Given the description of an element on the screen output the (x, y) to click on. 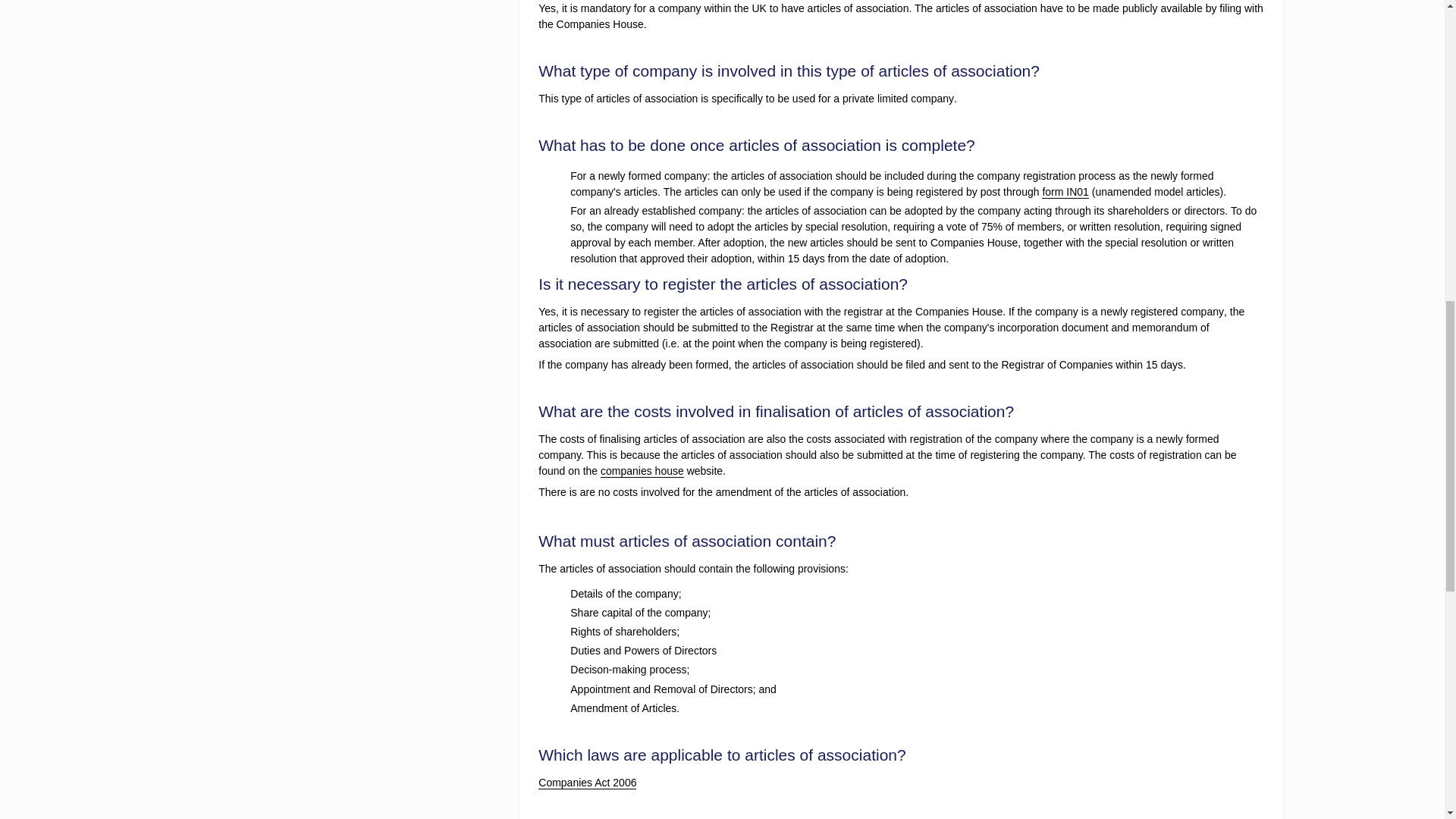
companies house (641, 471)
form IN01 (1064, 192)
Companies Act 2006 (587, 782)
